Given the description of an element on the screen output the (x, y) to click on. 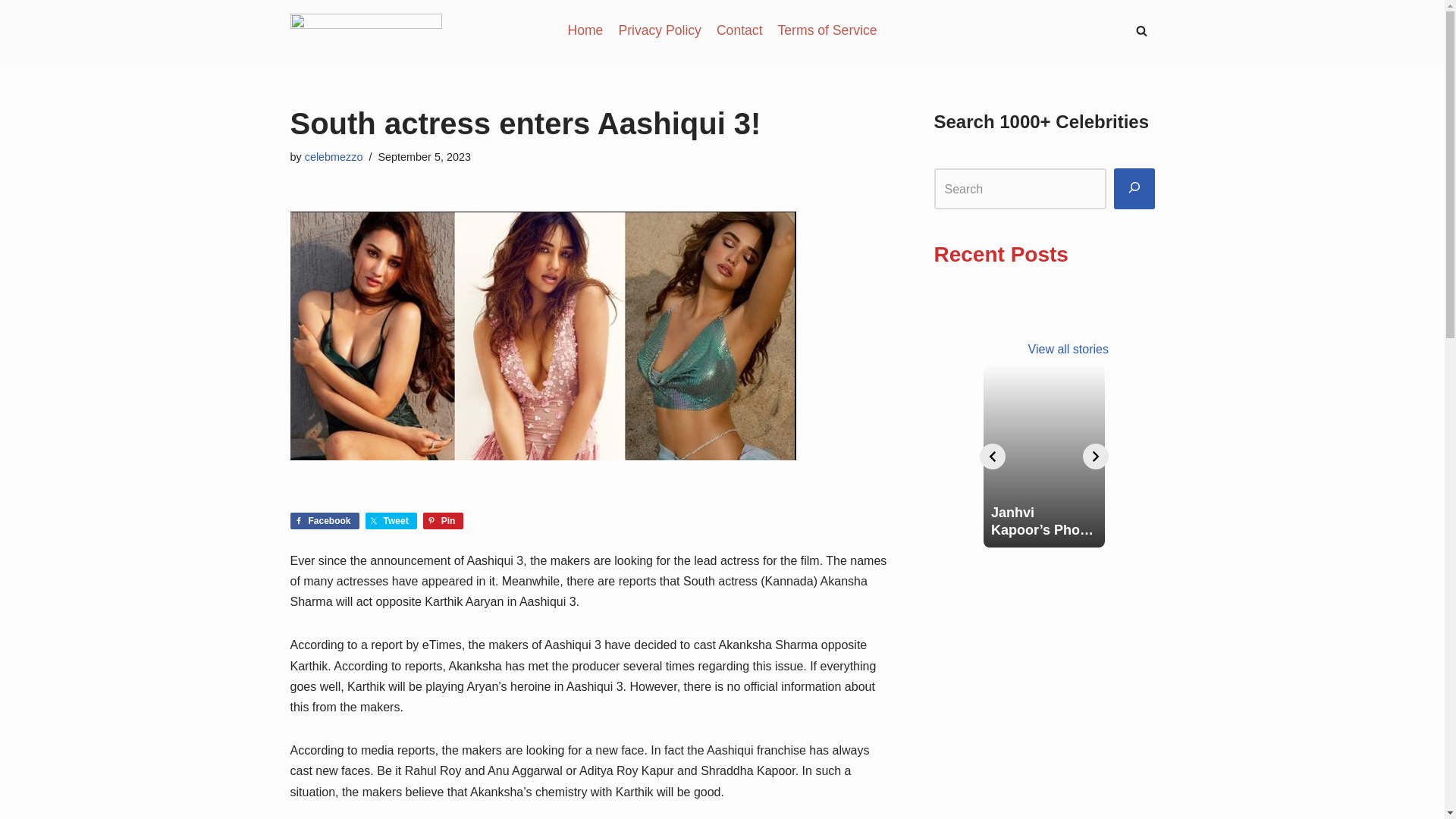
Share on Pinterest (443, 520)
Home (584, 29)
View all stories (1067, 349)
Share on Twitter (390, 520)
Facebook (323, 520)
Terms of Service (827, 29)
Privacy Policy (659, 29)
Skip to content (11, 31)
Posts by celebmezzo (333, 156)
Contact (739, 29)
